Given the description of an element on the screen output the (x, y) to click on. 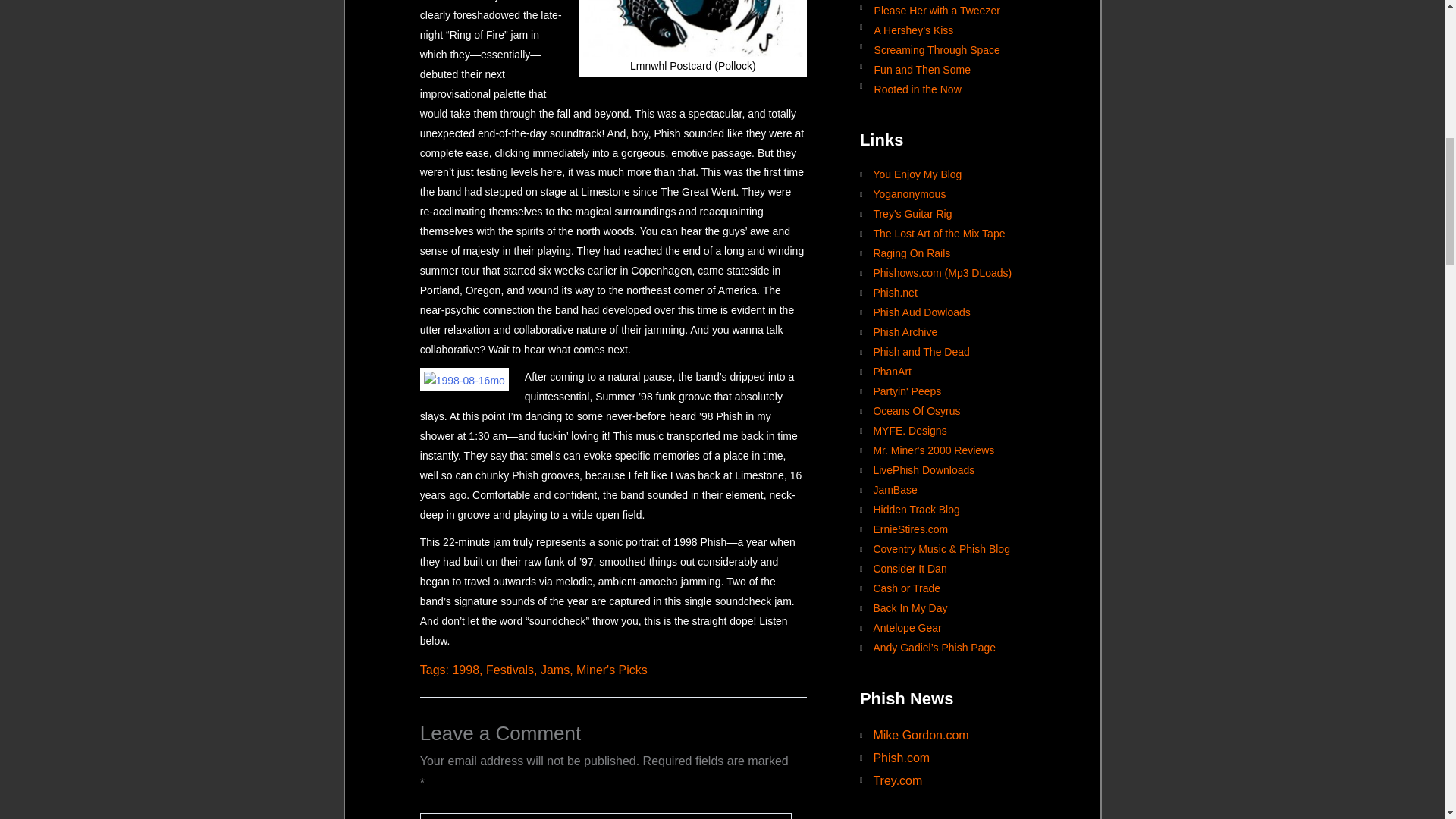
Jams (554, 669)
Please Her with a Tweezer (956, 9)
Festivals (510, 669)
Phish and The Dead (956, 352)
You Enjoy My Blog (956, 175)
Mr. Miner's 2000 Reviews (956, 451)
Rooted in the Now (956, 88)
MYFE. Designs (956, 431)
Partyin' Peeps (956, 392)
Phish Archive (956, 332)
PhanArt (956, 372)
Phish.net (956, 293)
Miner's Picks (611, 669)
Screaming Through Space (956, 48)
Trey's Guitar Rig (956, 214)
